Given the description of an element on the screen output the (x, y) to click on. 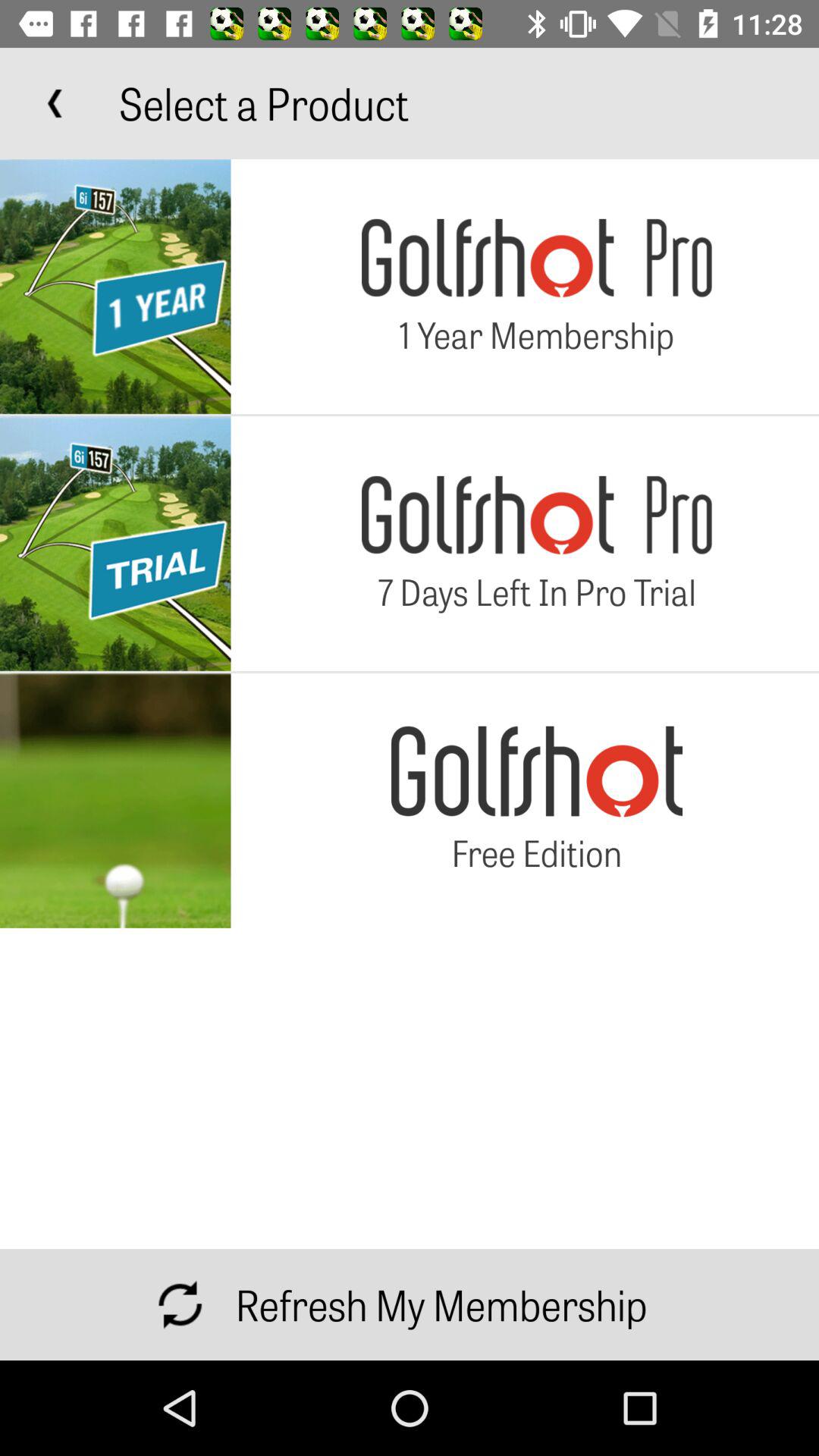
press icon next to select a product icon (55, 103)
